Given the description of an element on the screen output the (x, y) to click on. 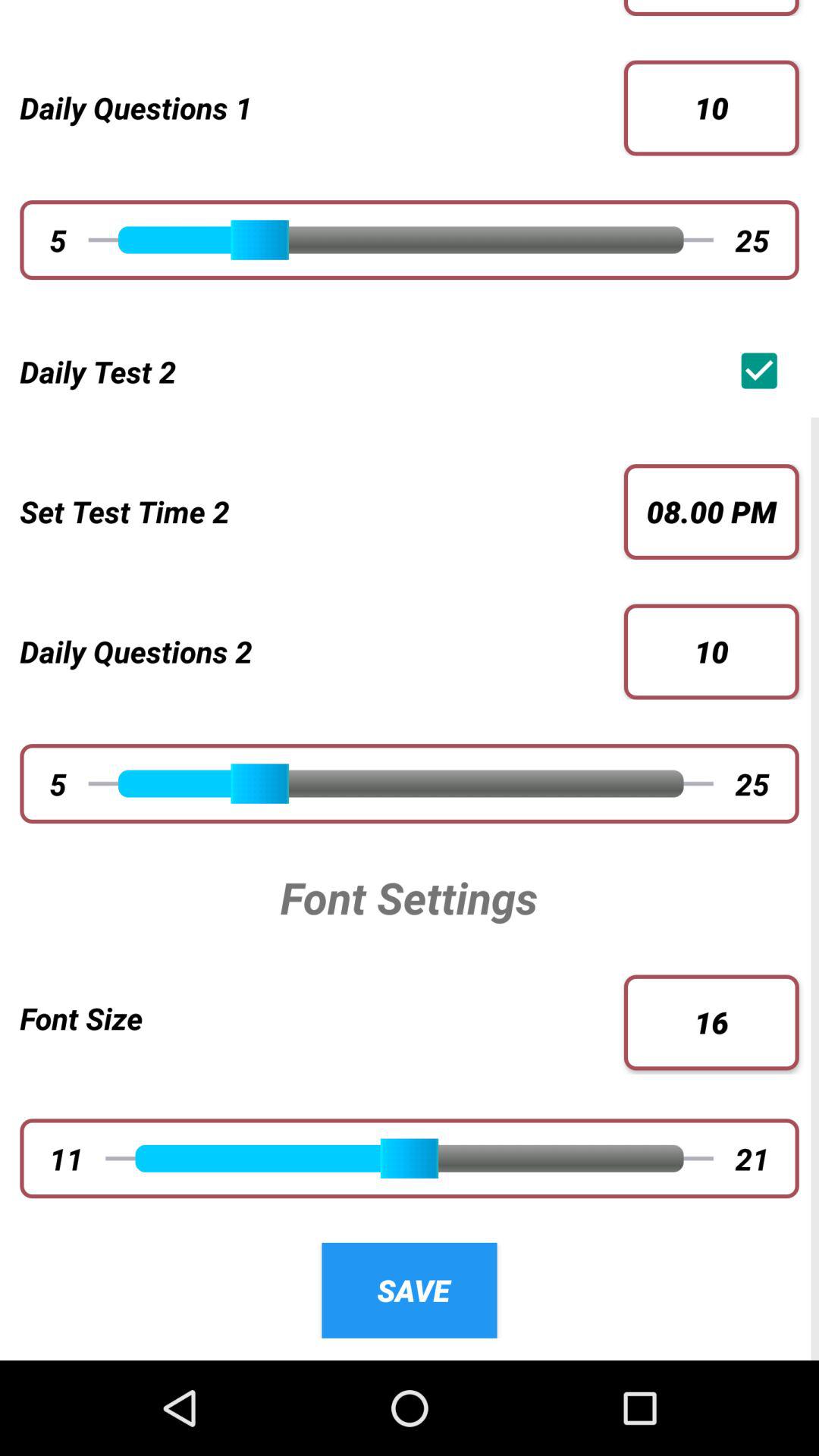
flip until icon (763, 370)
